Given the description of an element on the screen output the (x, y) to click on. 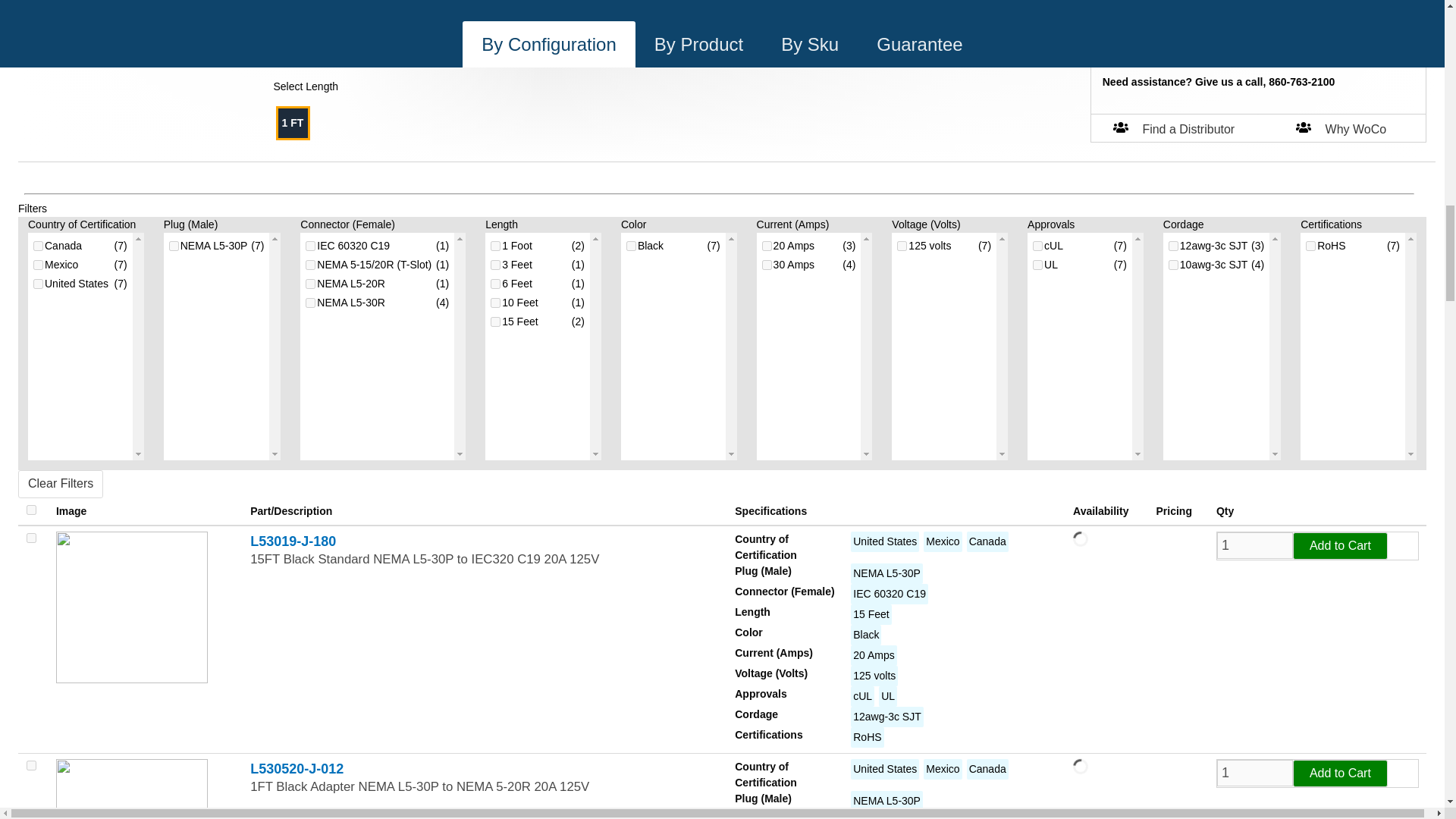
548 (310, 302)
49 (495, 284)
908 (38, 284)
37 (495, 245)
135 (631, 245)
58 (495, 321)
394 (310, 265)
547 (310, 284)
43 (495, 265)
377 (173, 245)
909 (38, 245)
53 (495, 302)
92 (310, 245)
1887 (38, 265)
0 (1147, 44)
